Given the description of an element on the screen output the (x, y) to click on. 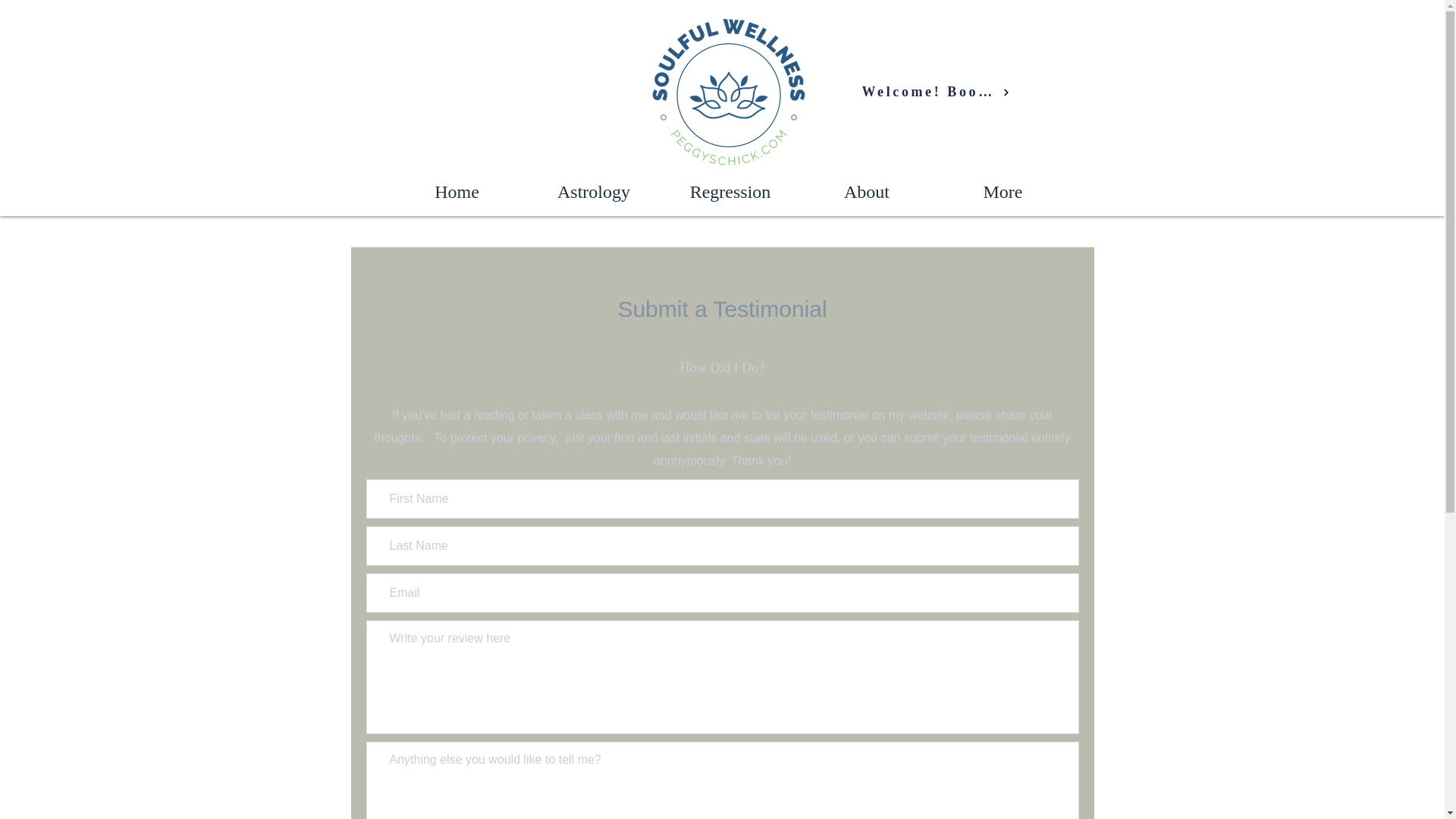
More (1002, 191)
Regression (729, 191)
Home (456, 191)
About (865, 191)
Welcome! Book Now (935, 92)
